Given the description of an element on the screen output the (x, y) to click on. 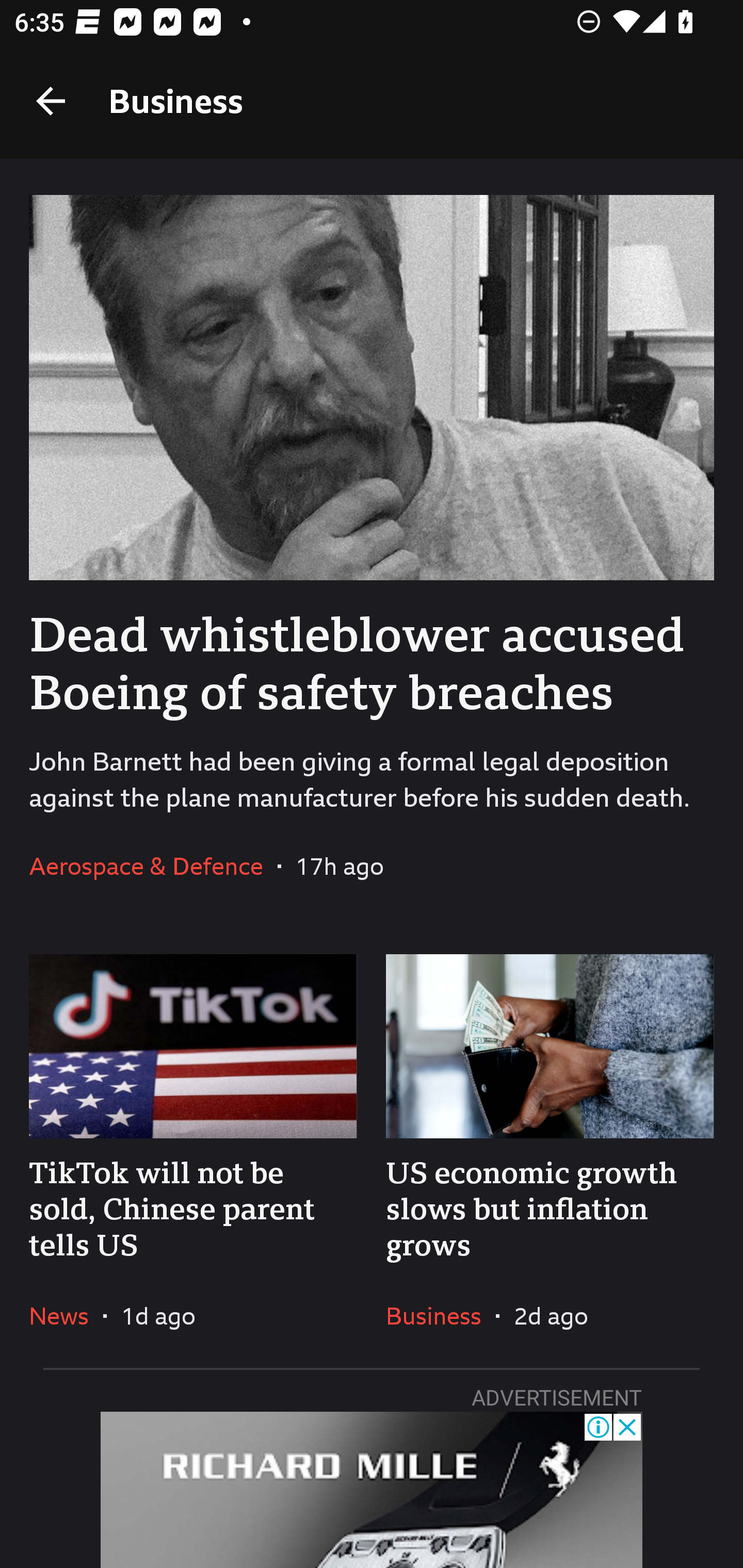
Back (50, 101)
News In the section News (65, 1315)
Business In the section Business (440, 1315)
Advertisement (371, 1489)
